Given the description of an element on the screen output the (x, y) to click on. 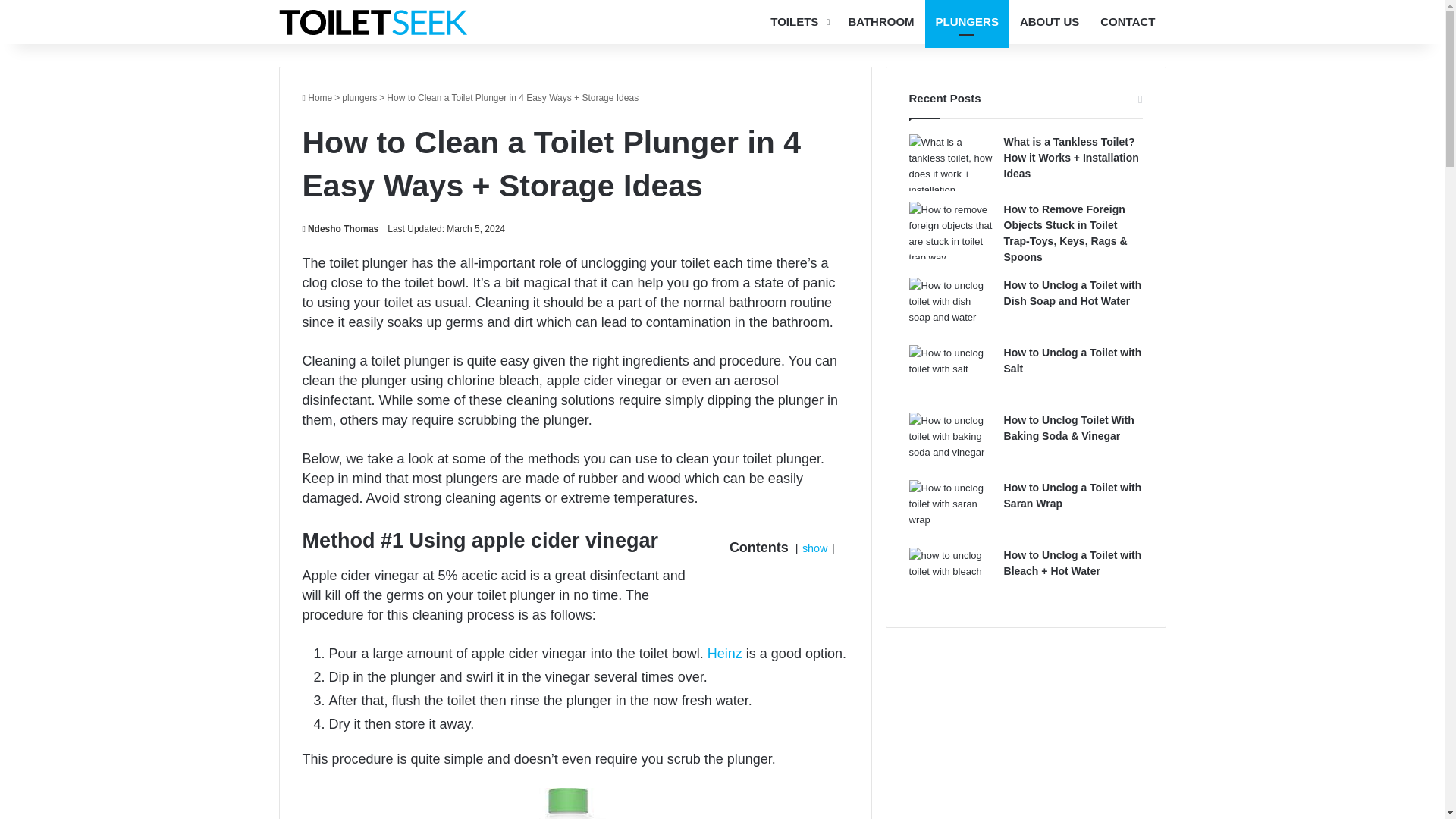
ABOUT US (1049, 22)
PLUNGERS (966, 22)
TOILETS (798, 22)
Ndesho Thomas (339, 228)
Home (316, 97)
CONTACT (1127, 22)
Ndesho Thomas (339, 228)
Heinz (724, 653)
BATHROOM (880, 22)
show (815, 548)
